Given the description of an element on the screen output the (x, y) to click on. 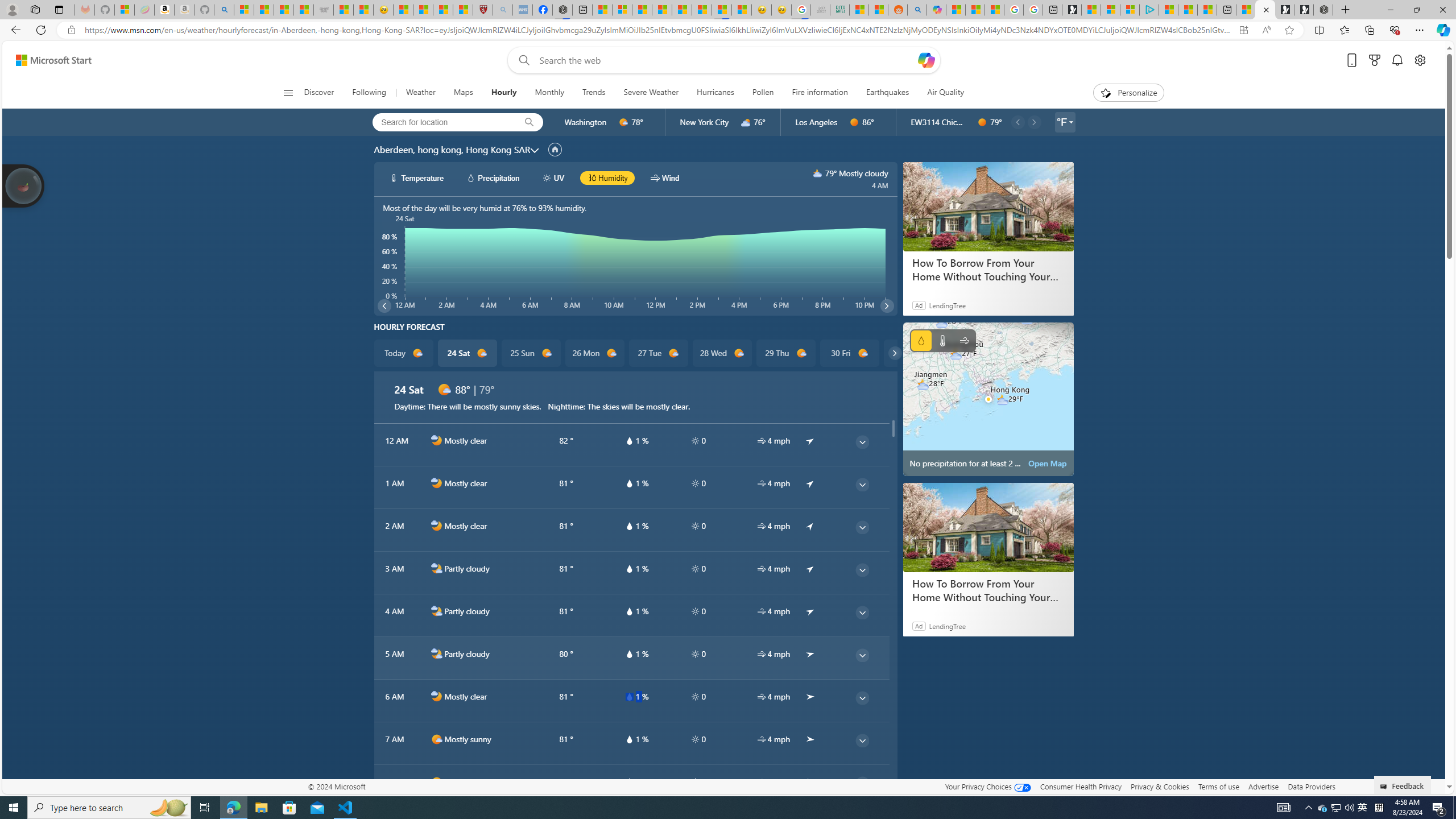
hourlyChart/precipitationWhite Precipitation (493, 178)
hourlyChart/uvWhite (546, 177)
hourlyChart/humidityBlack Humidity (606, 178)
hourlyChart/temperatureWhite Temperature (416, 178)
hourlyChart/windWhite Wind (664, 178)
